Given the description of an element on the screen output the (x, y) to click on. 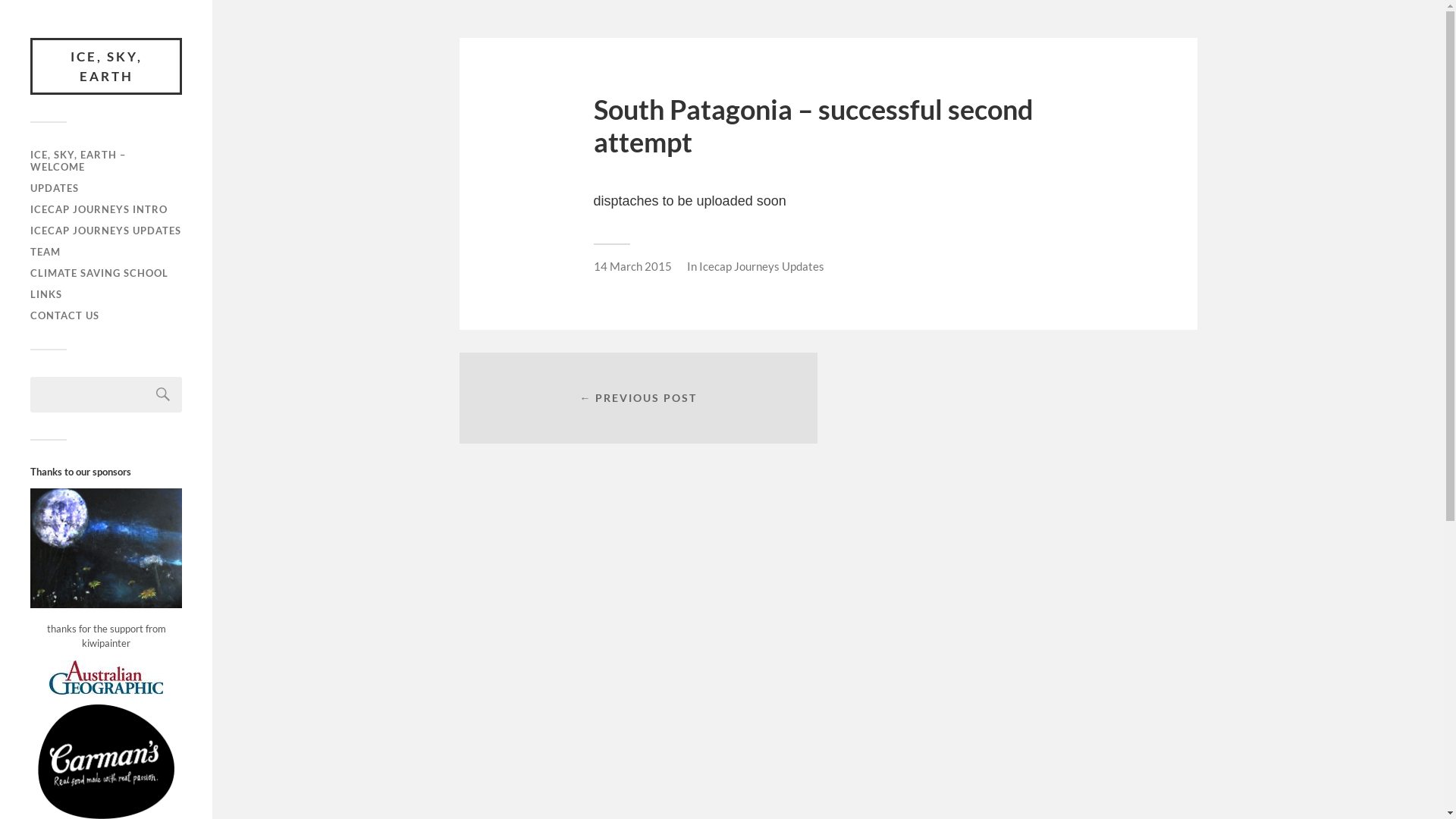
CONTACT US Element type: text (64, 315)
ICECAP JOURNEYS INTRO Element type: text (98, 209)
LINKS Element type: text (46, 294)
TEAM Element type: text (45, 251)
ICE, SKY, EARTH Element type: text (106, 65)
CLIMATE SAVING SCHOOL Element type: text (99, 272)
Icecap Journeys Updates Element type: text (761, 266)
14 March 2015 Element type: text (632, 266)
UPDATES Element type: text (54, 188)
Search Element type: text (163, 394)
ICECAP JOURNEYS UPDATES Element type: text (105, 230)
